Given the description of an element on the screen output the (x, y) to click on. 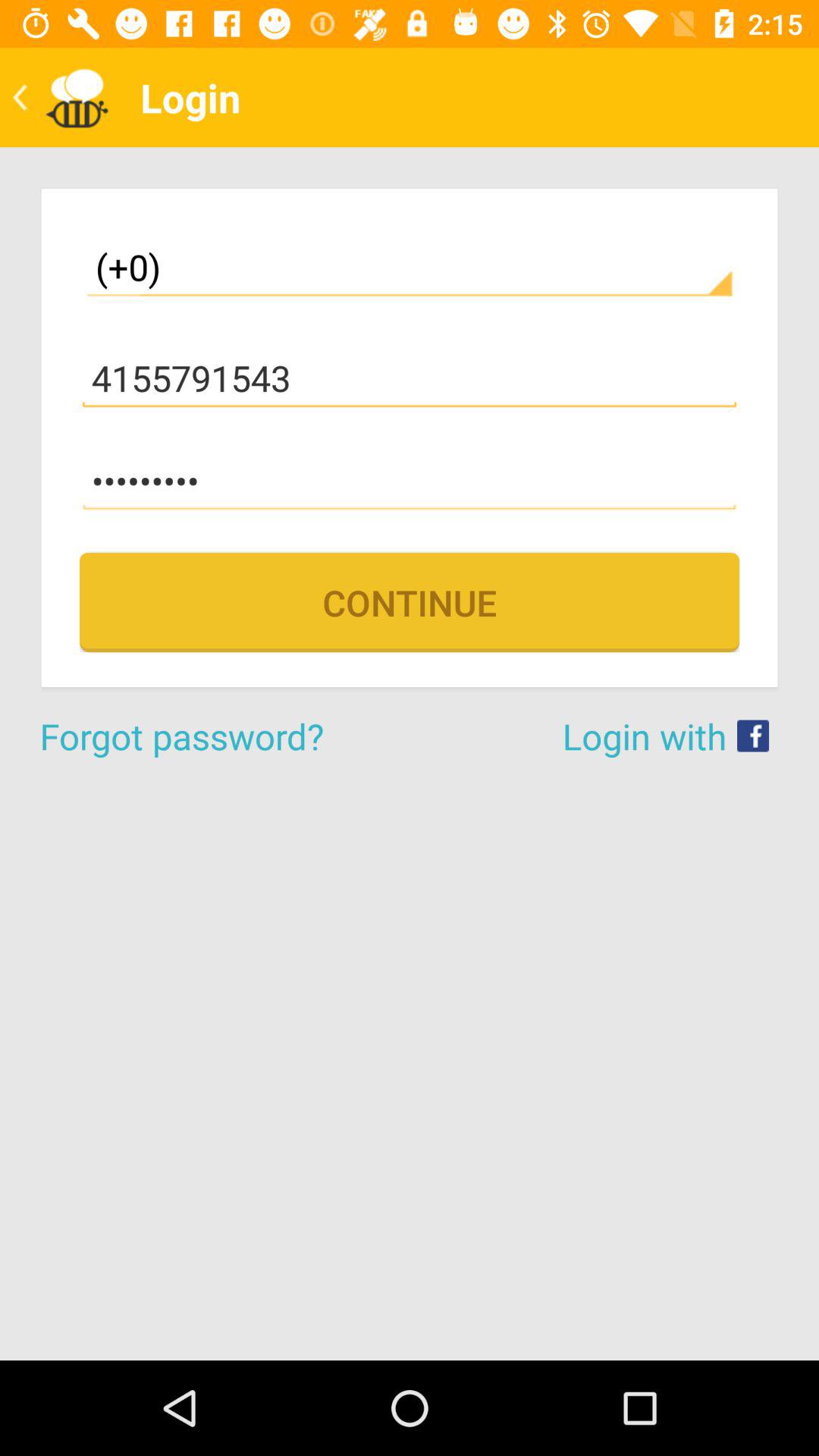
turn off the 4155791543 item (409, 378)
